Given the description of an element on the screen output the (x, y) to click on. 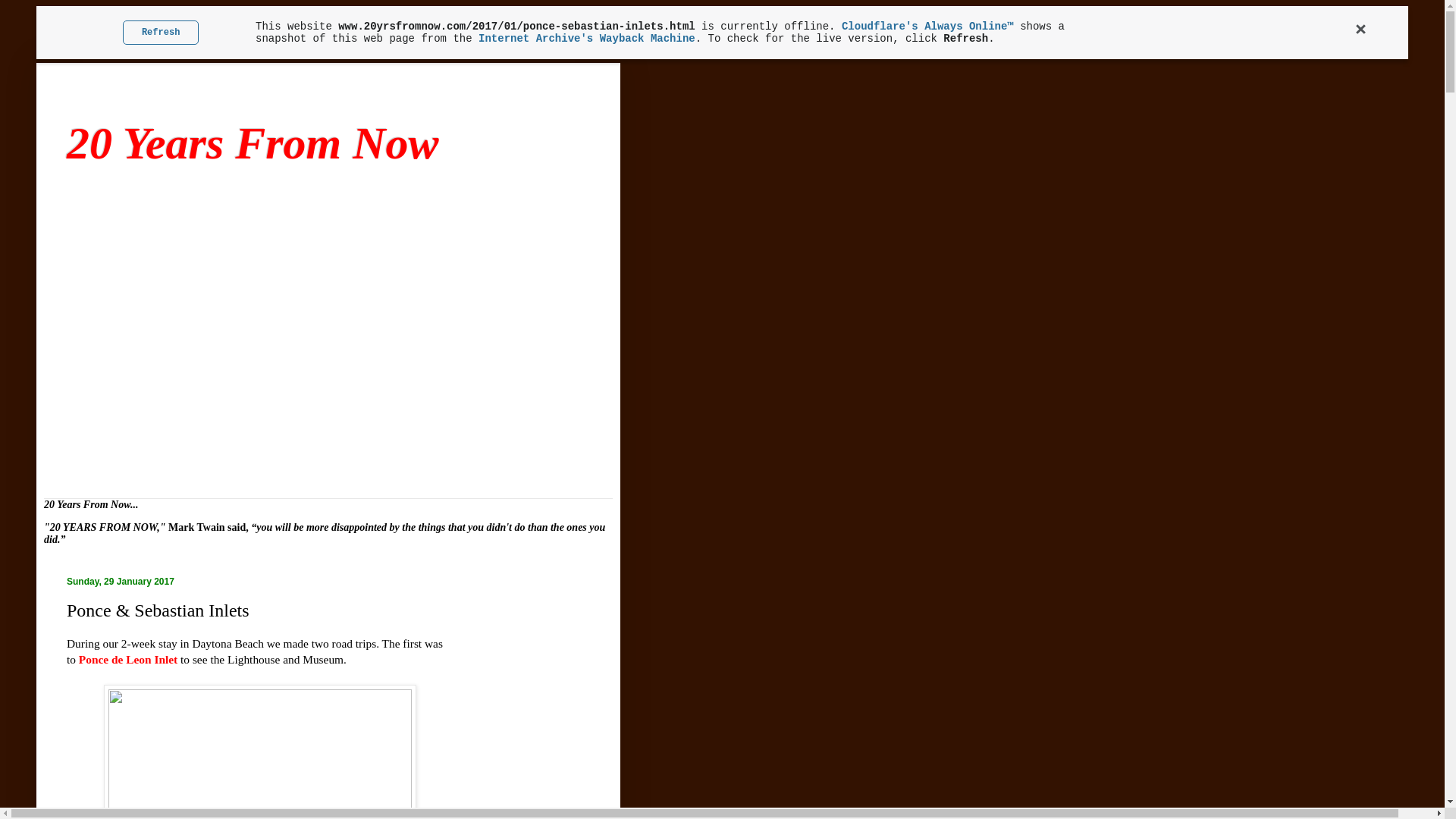
Refresh Element type: text (161, 32)
Internet Archive's Wayback Machine Element type: text (588, 38)
